Given the description of an element on the screen output the (x, y) to click on. 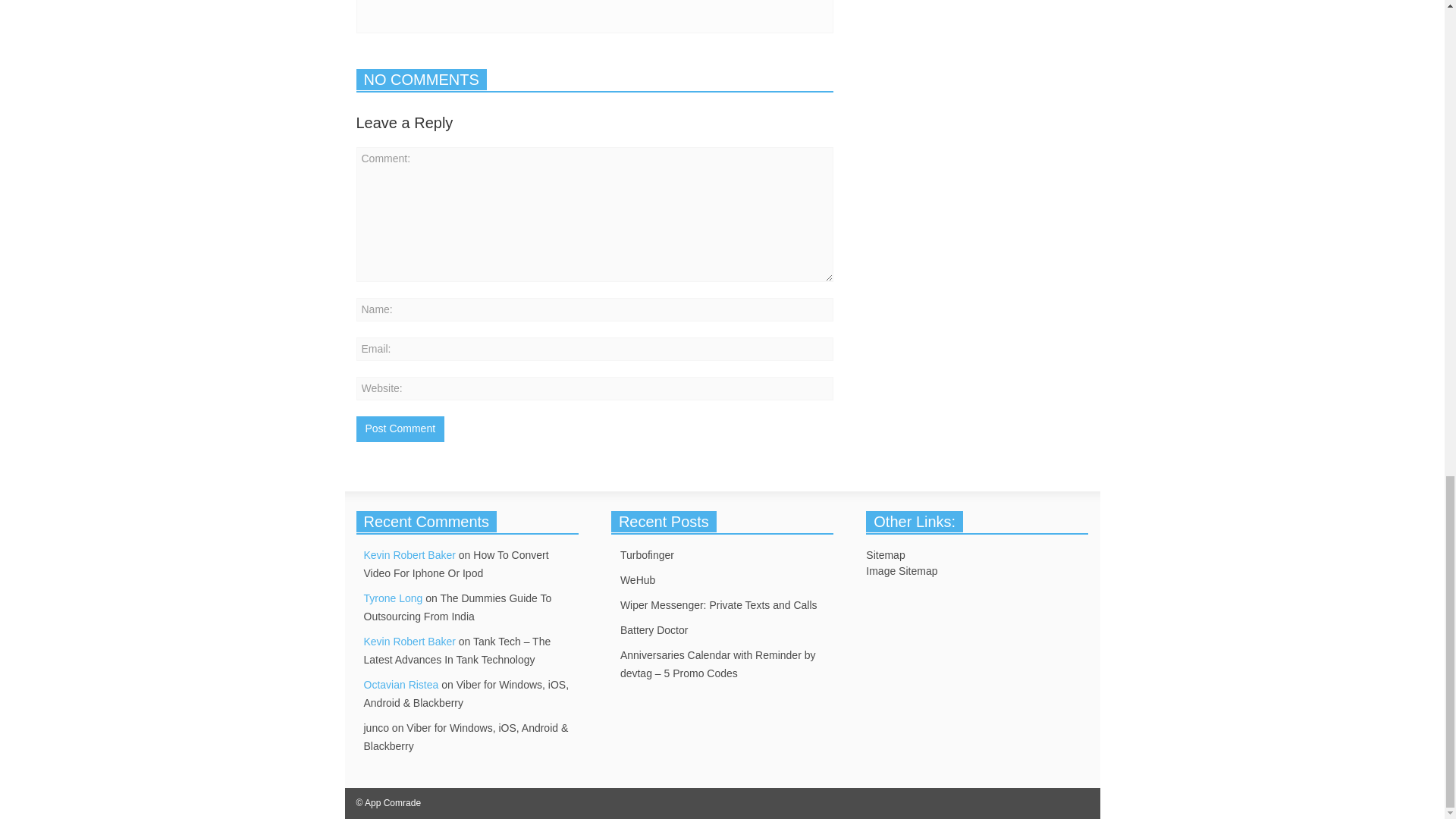
Post Comment (400, 429)
Post Comment (400, 429)
